Given the description of an element on the screen output the (x, y) to click on. 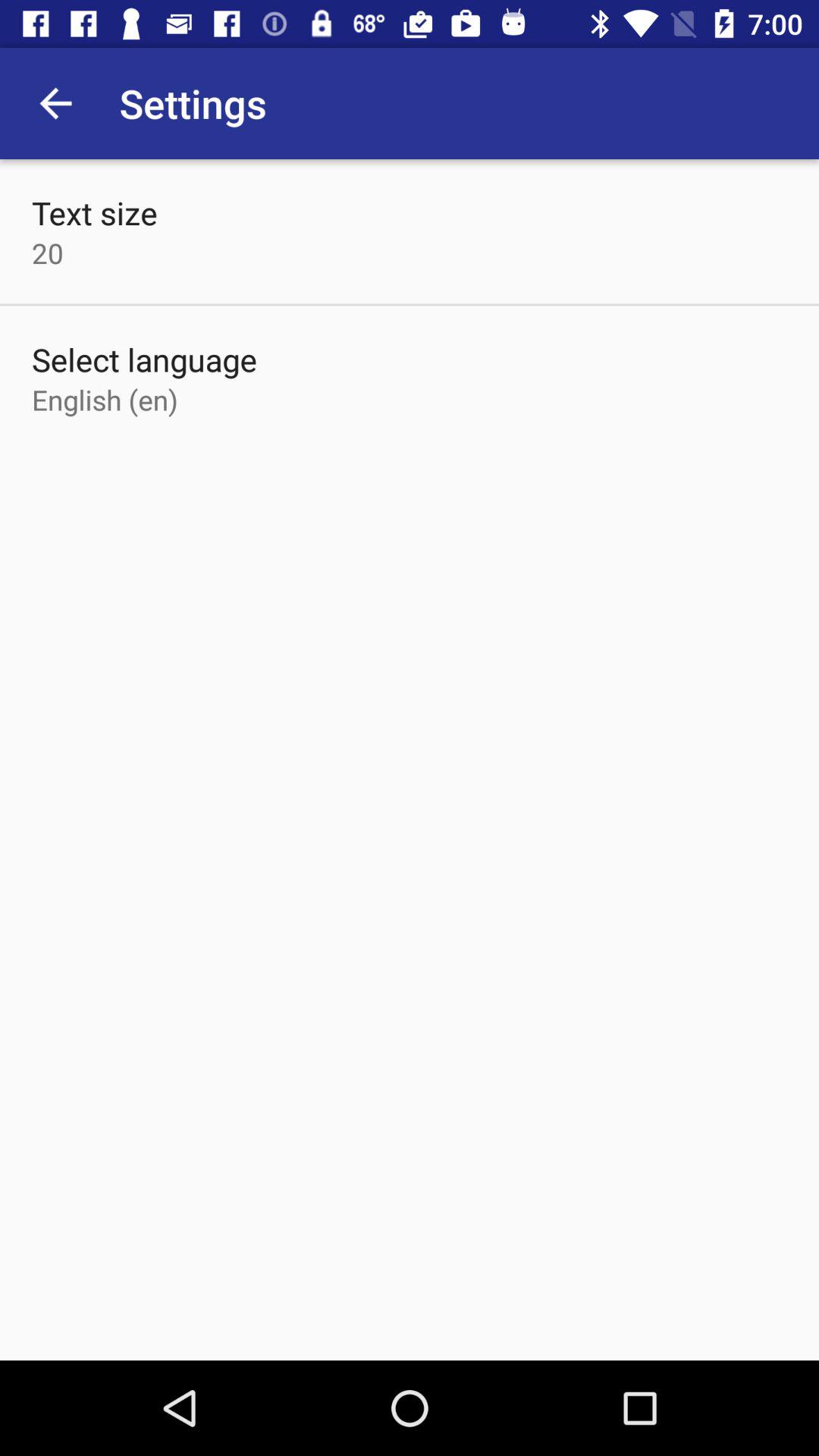
tap the app to the left of the settings icon (55, 103)
